Given the description of an element on the screen output the (x, y) to click on. 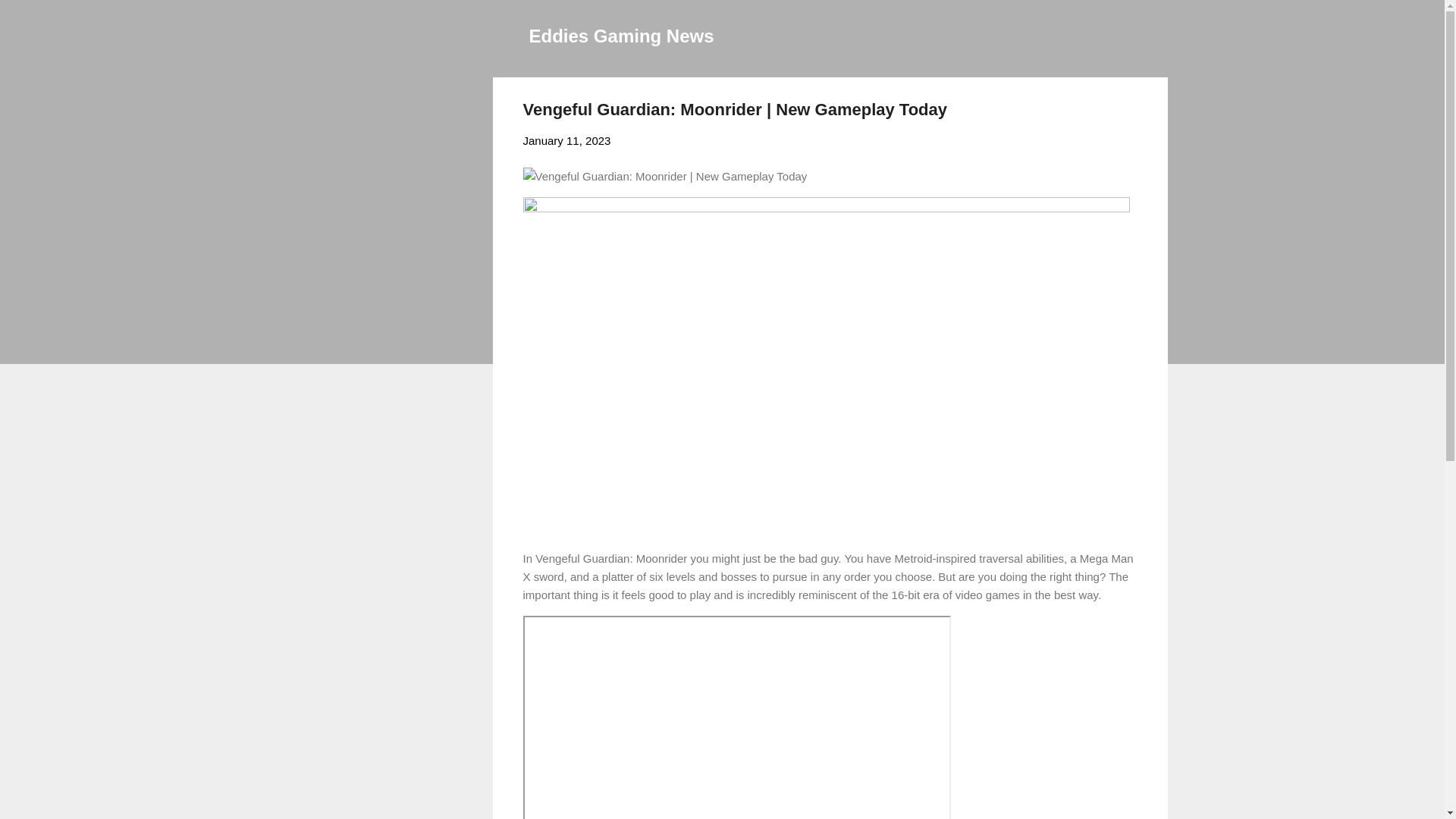
January 11, 2023 (566, 140)
Search (29, 18)
Eddies Gaming News (621, 35)
permanent link (566, 140)
